Given the description of an element on the screen output the (x, y) to click on. 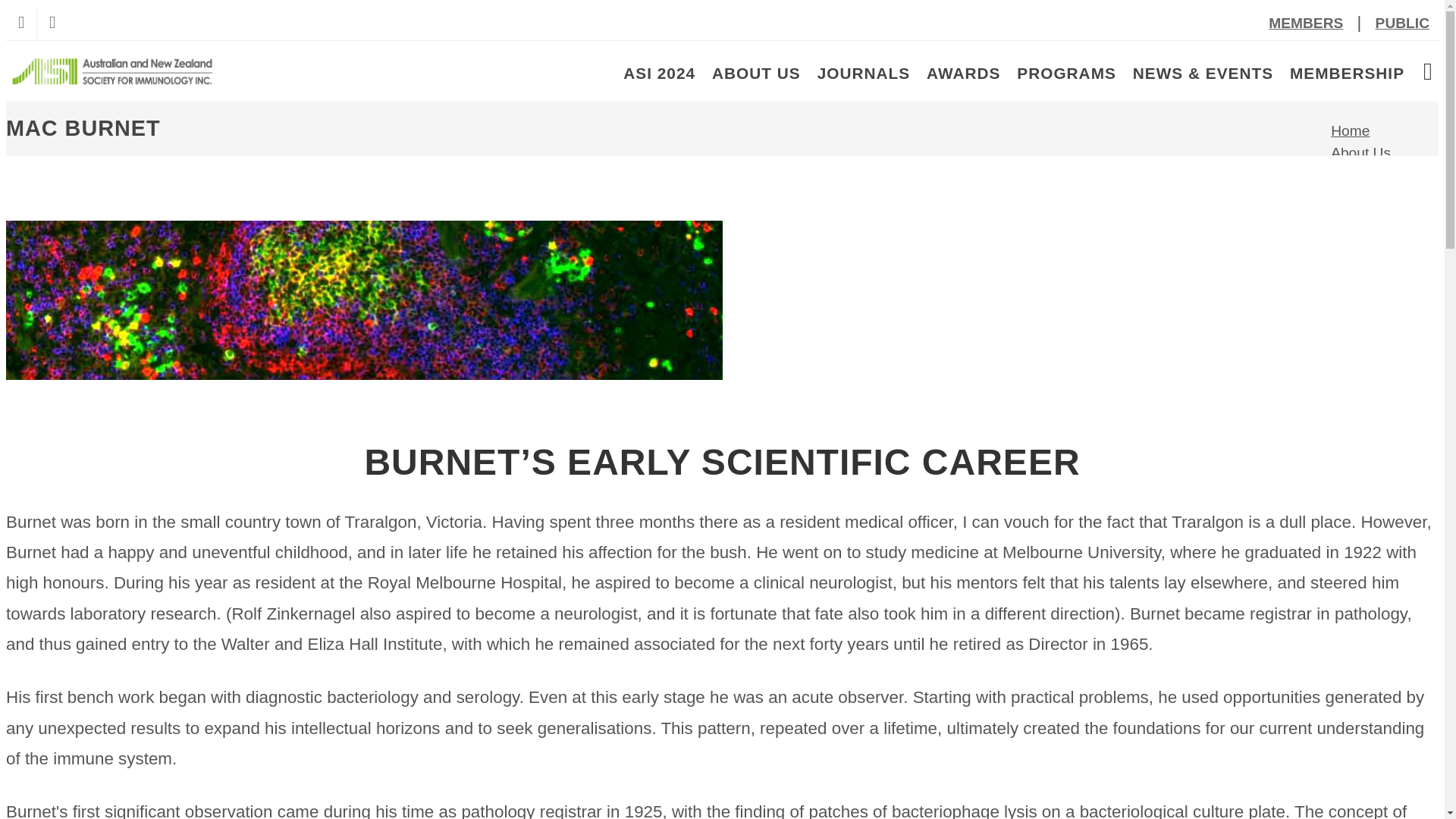
JOURNALS (863, 72)
ASI 2024 (659, 72)
AWARDS (962, 72)
ABOUT US (756, 72)
PUBLIC (1402, 23)
MEMBERS (1305, 23)
